Given the description of an element on the screen output the (x, y) to click on. 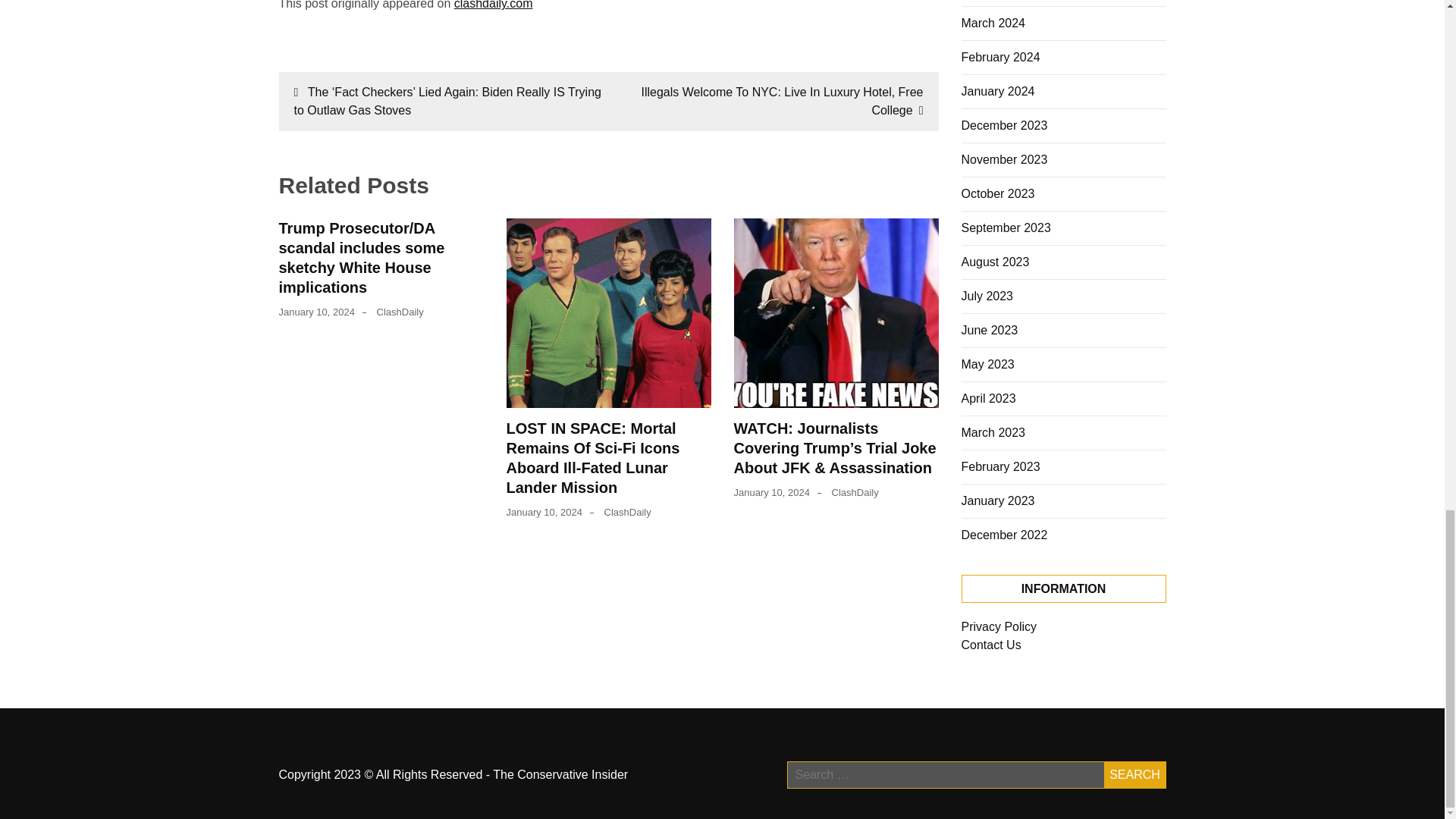
Search (1134, 774)
Search (1134, 774)
clashdaily.com (493, 4)
